Given the description of an element on the screen output the (x, y) to click on. 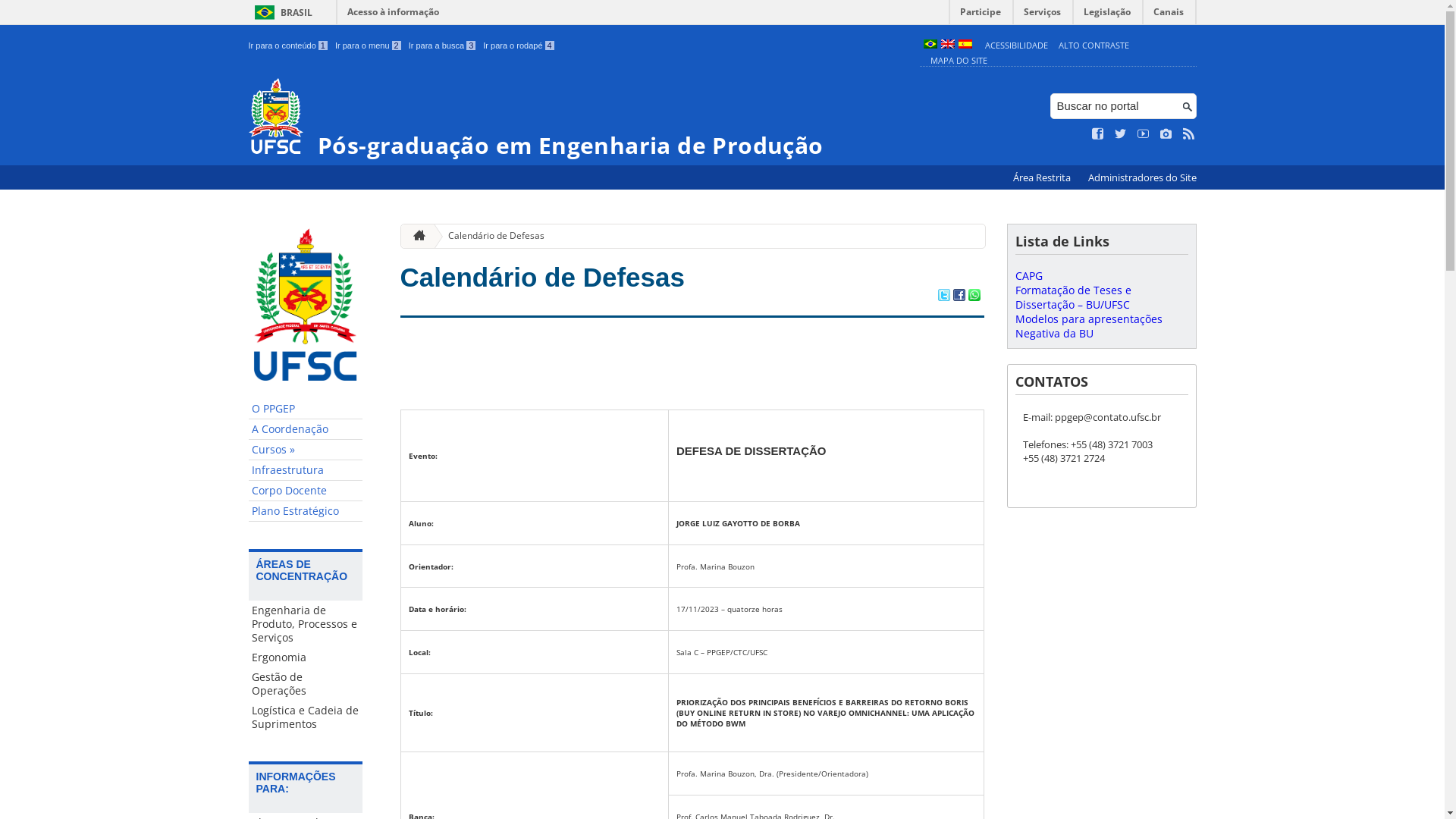
Siga no Twitter Element type: hover (1120, 134)
BRASIL Element type: text (280, 12)
Corpo Docente Element type: text (305, 490)
Infraestrutura Element type: text (305, 470)
Administradores do Site Element type: text (1141, 177)
Compartilhar no Twitter Element type: hover (943, 296)
O PPGEP Element type: text (305, 408)
ACESSIBILIDADE Element type: text (1016, 44)
Ir para a busca 3 Element type: text (442, 45)
ALTO CONTRASTE Element type: text (1093, 44)
CAPG Element type: text (1027, 275)
Curta no Facebook Element type: hover (1098, 134)
Participe Element type: text (980, 15)
English (en) Element type: hover (946, 44)
Compartilhar no Facebook Element type: hover (958, 296)
Ir para o menu 2 Element type: text (368, 45)
Canais Element type: text (1169, 15)
Negativa da BU Element type: text (1053, 333)
Veja no Instagram Element type: hover (1166, 134)
MAPA DO SITE Element type: text (957, 59)
Ergonomia Element type: text (305, 657)
Compartilhar no WhatsApp Element type: hover (973, 296)
